Given the description of an element on the screen output the (x, y) to click on. 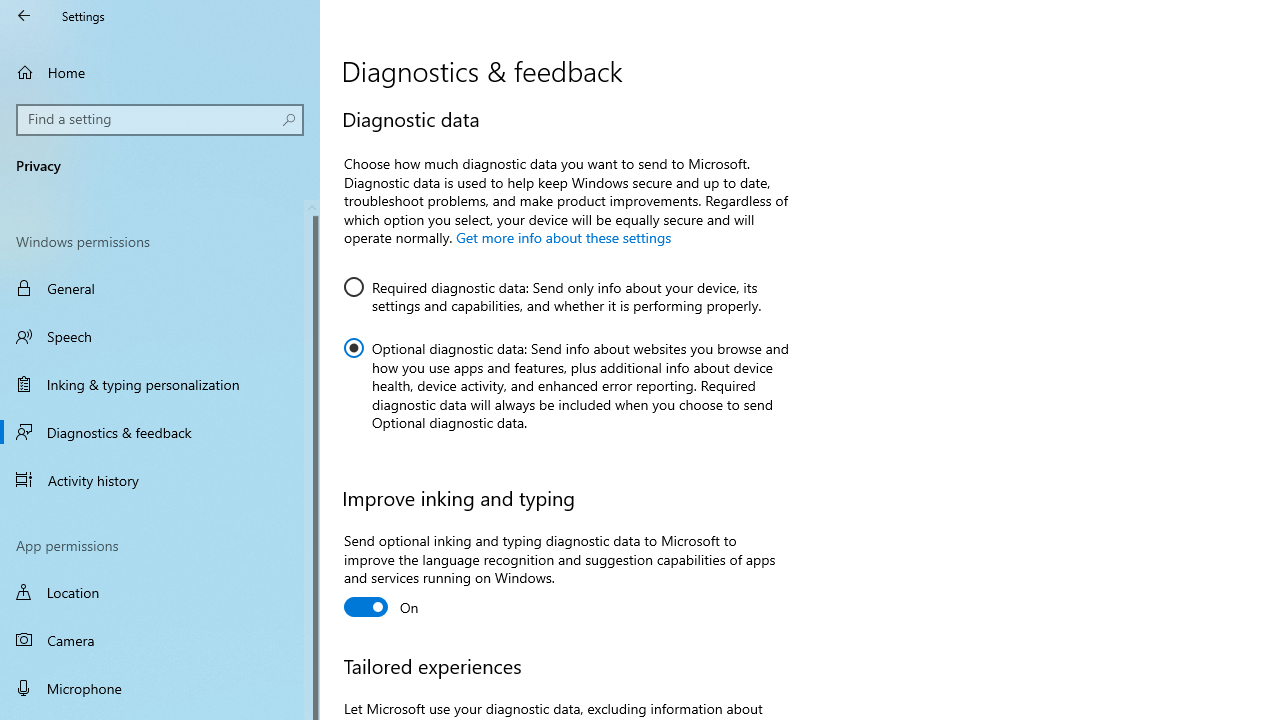
Microphone (160, 687)
Inking & typing personalization (160, 384)
Back (24, 15)
Get more info about these settings (562, 237)
Diagnostics & feedback (160, 431)
Search box, Find a setting (160, 119)
Activity history (160, 479)
Camera (160, 639)
Home (160, 71)
Location (160, 592)
General (160, 287)
Speech (160, 335)
